Given the description of an element on the screen output the (x, y) to click on. 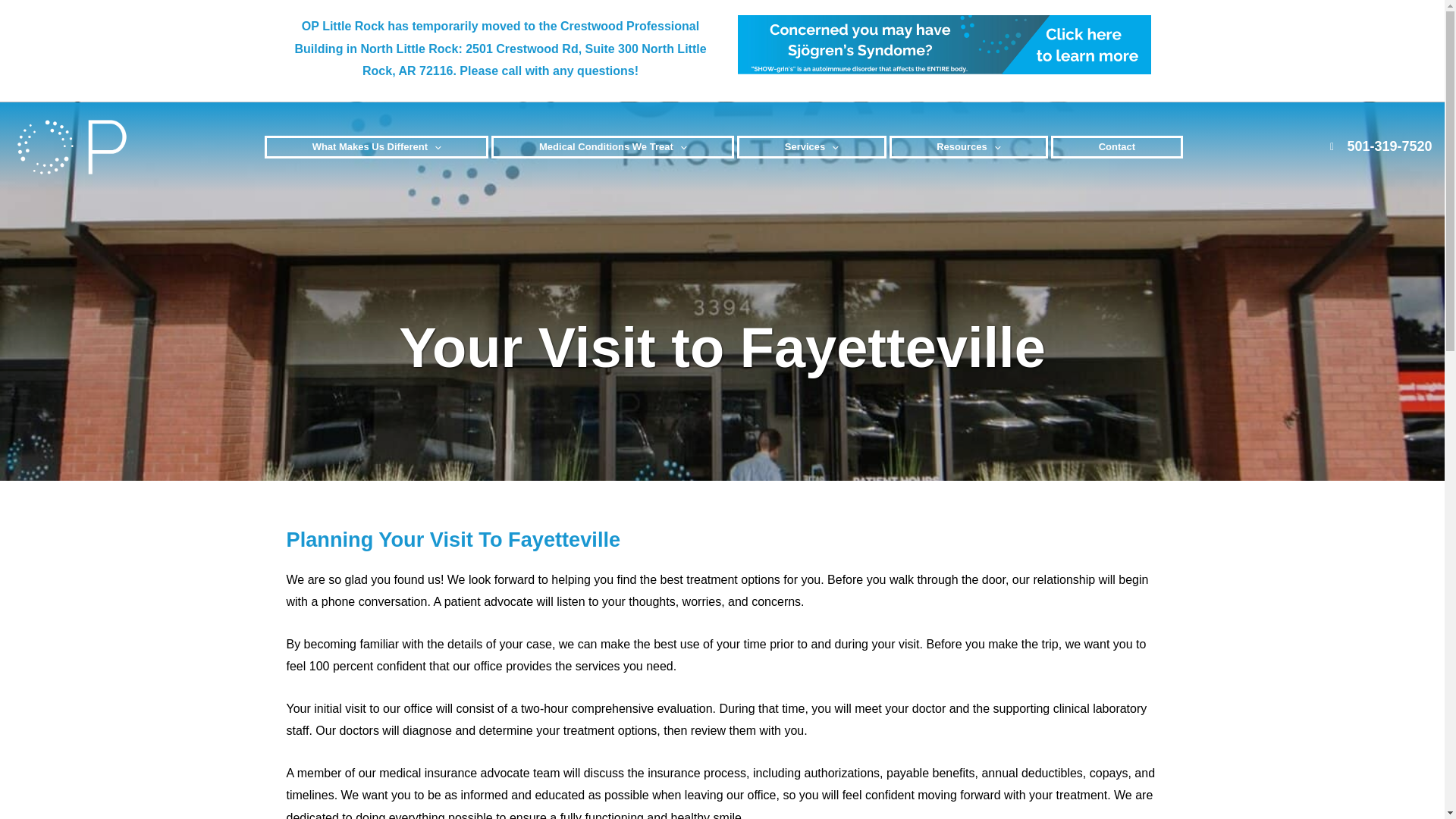
Medical Conditions We Treat (612, 146)
501-319-7520 (1381, 146)
Resources (968, 146)
What Makes Us Different (375, 146)
Services (810, 146)
Contact (1116, 146)
